Given the description of an element on the screen output the (x, y) to click on. 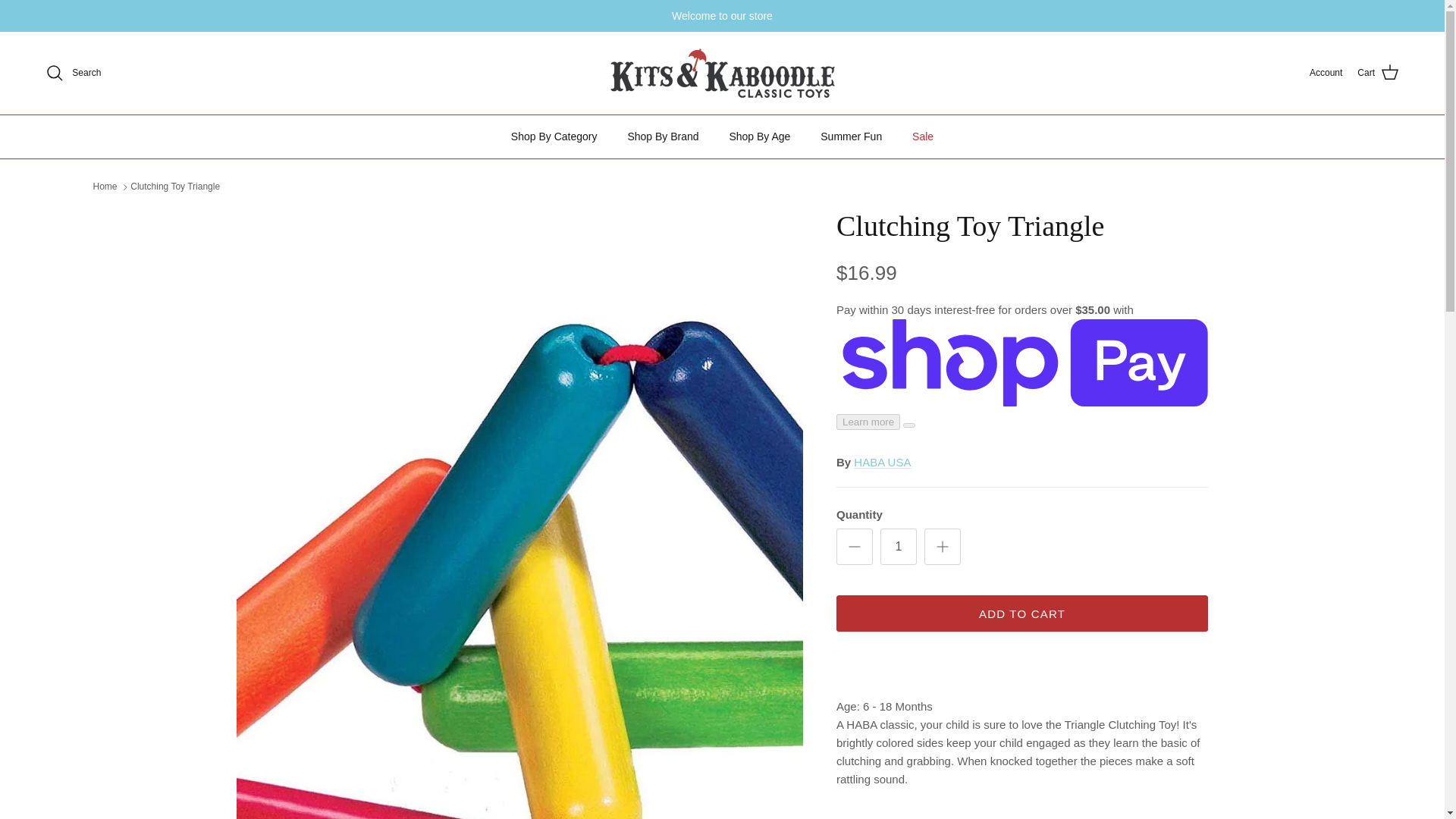
Account (1325, 73)
kitsandkaboodle (721, 72)
Shop By Category (554, 136)
Shop By Age (758, 136)
Shop By Brand (661, 136)
1 (898, 546)
Search (72, 72)
Cart (1377, 72)
